Given the description of an element on the screen output the (x, y) to click on. 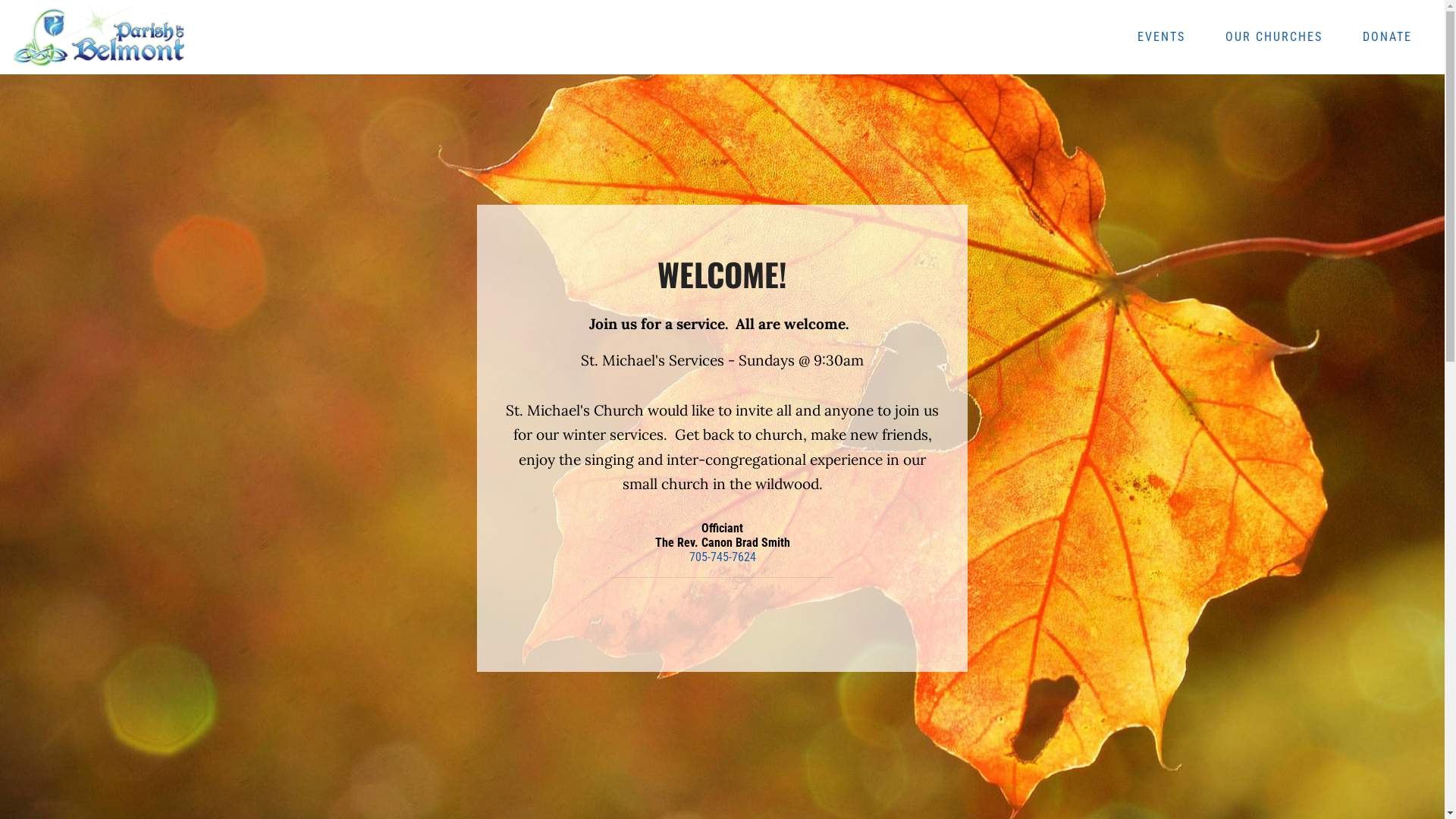
705-745-7624 Element type: text (721, 556)
DONATE Element type: text (1387, 37)
EVENTS Element type: text (1160, 37)
OUR CHURCHES Element type: text (1273, 37)
